Given the description of an element on the screen output the (x, y) to click on. 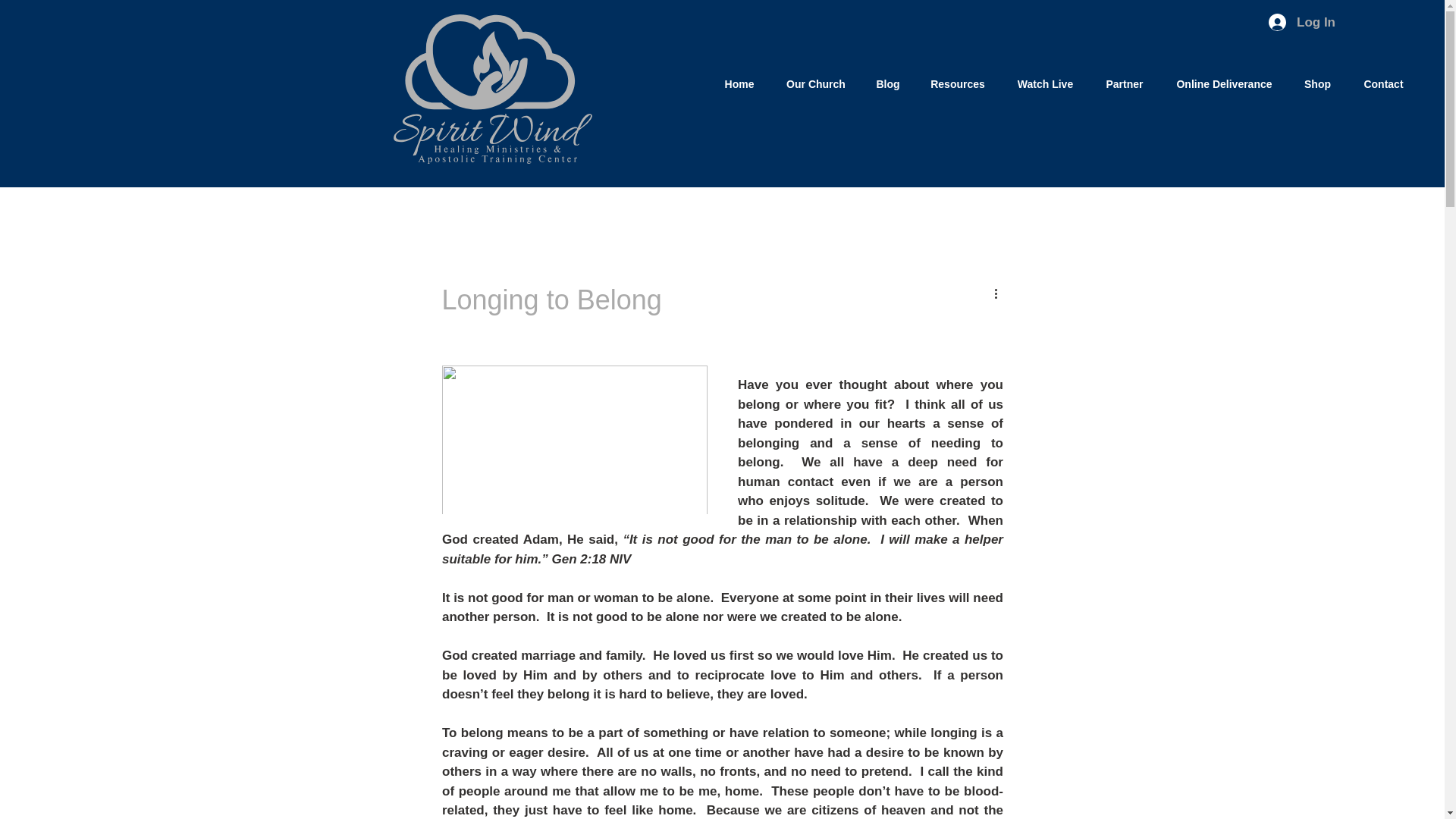
Shop (1316, 83)
Online Deliverance (1223, 83)
Watch Live (1045, 83)
Resources (957, 83)
Blog (887, 83)
Log In (1299, 22)
Contact (1383, 83)
Our Church (815, 83)
Home (738, 83)
Partner (1123, 83)
